Given the description of an element on the screen output the (x, y) to click on. 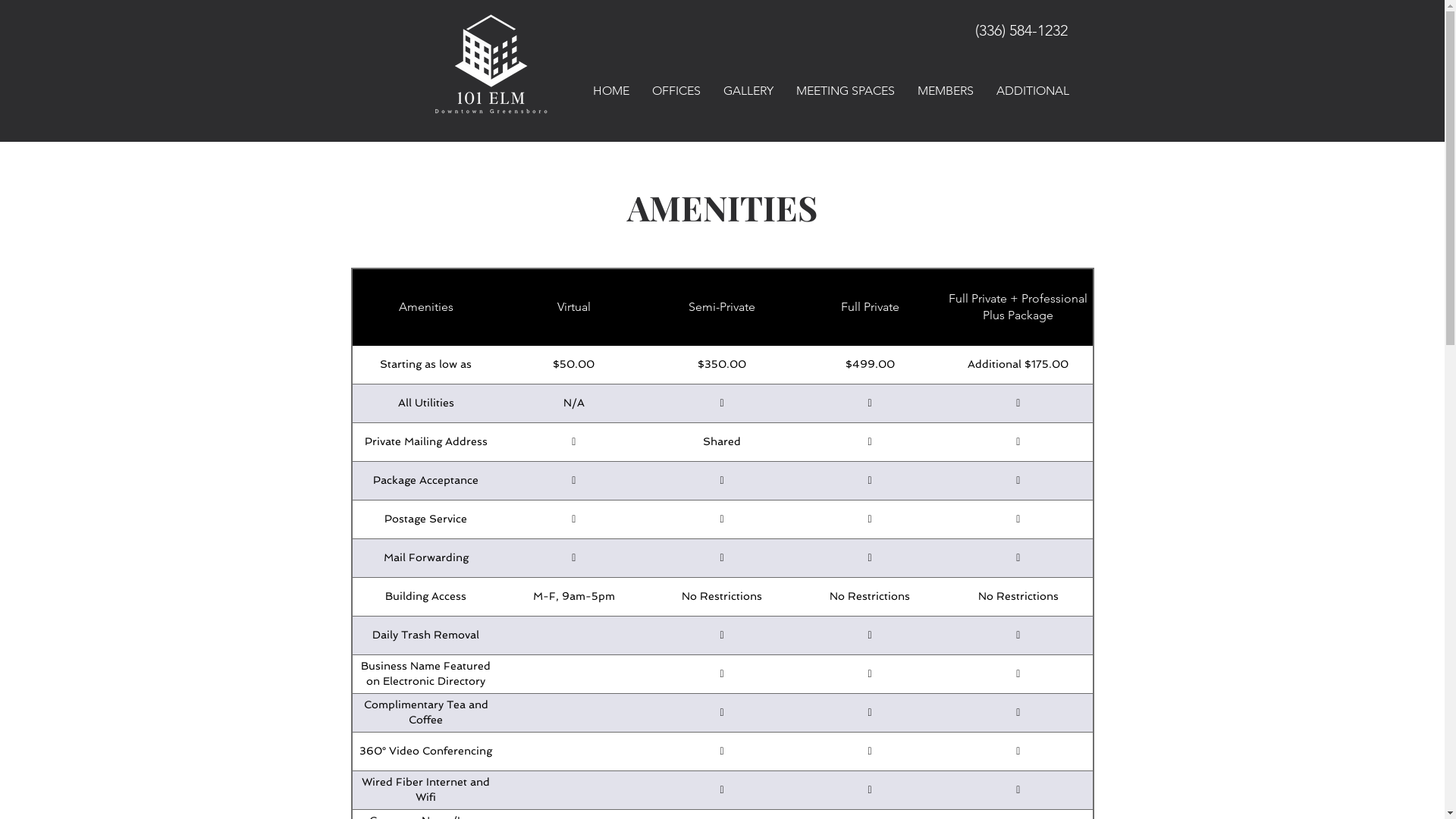
HOME Element type: text (610, 90)
Small and Large Office Space in Greensboro NC Element type: hover (491, 63)
GALLERY Element type: text (748, 90)
